Given the description of an element on the screen output the (x, y) to click on. 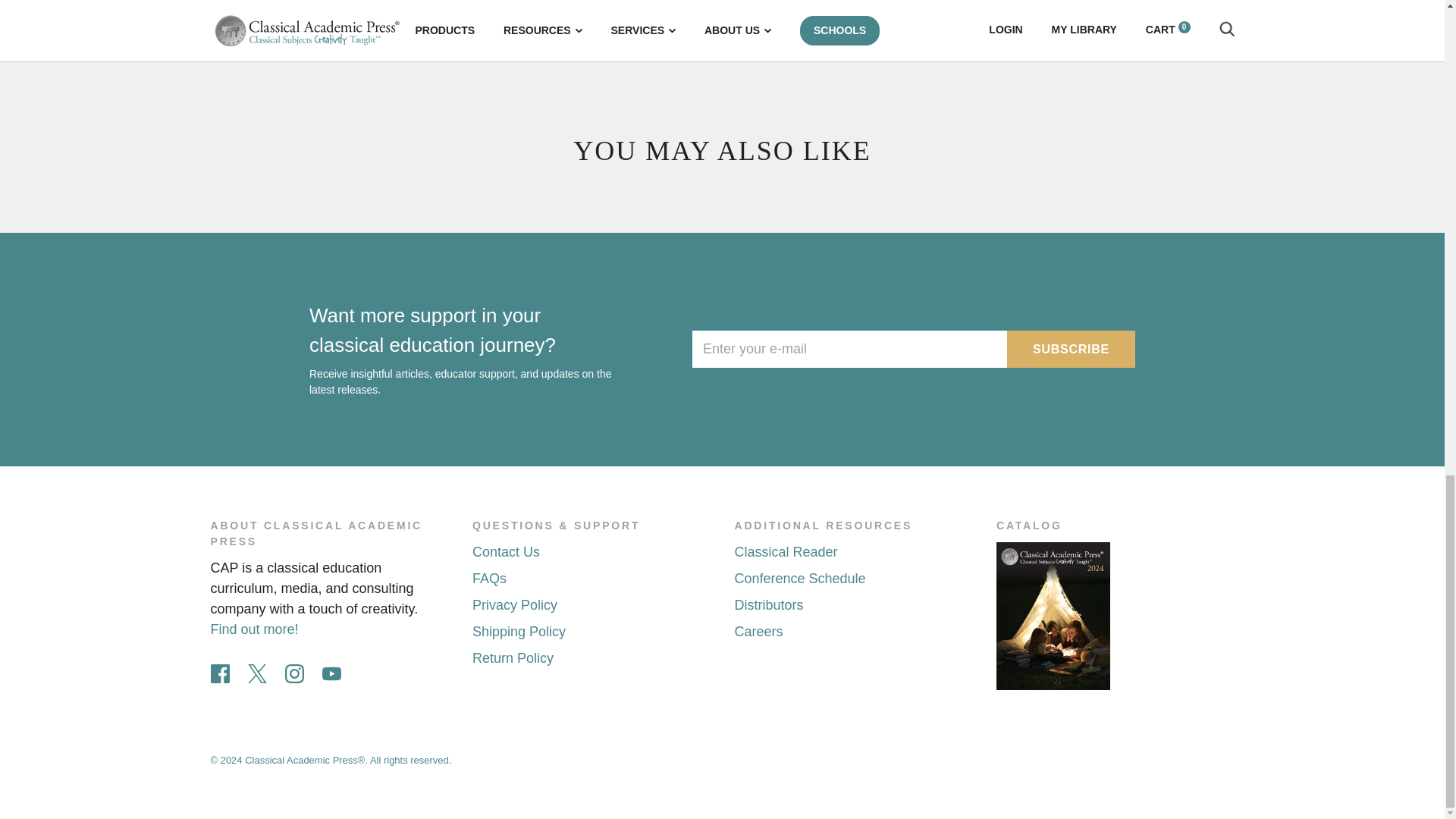
Kindle Format (256, 2)
Subscribe (1071, 348)
Twitter (256, 673)
Facebook (220, 673)
Our Story (254, 629)
YouTube (330, 673)
Teaching from Rest (250, 18)
Instagram (294, 673)
